Given the description of an element on the screen output the (x, y) to click on. 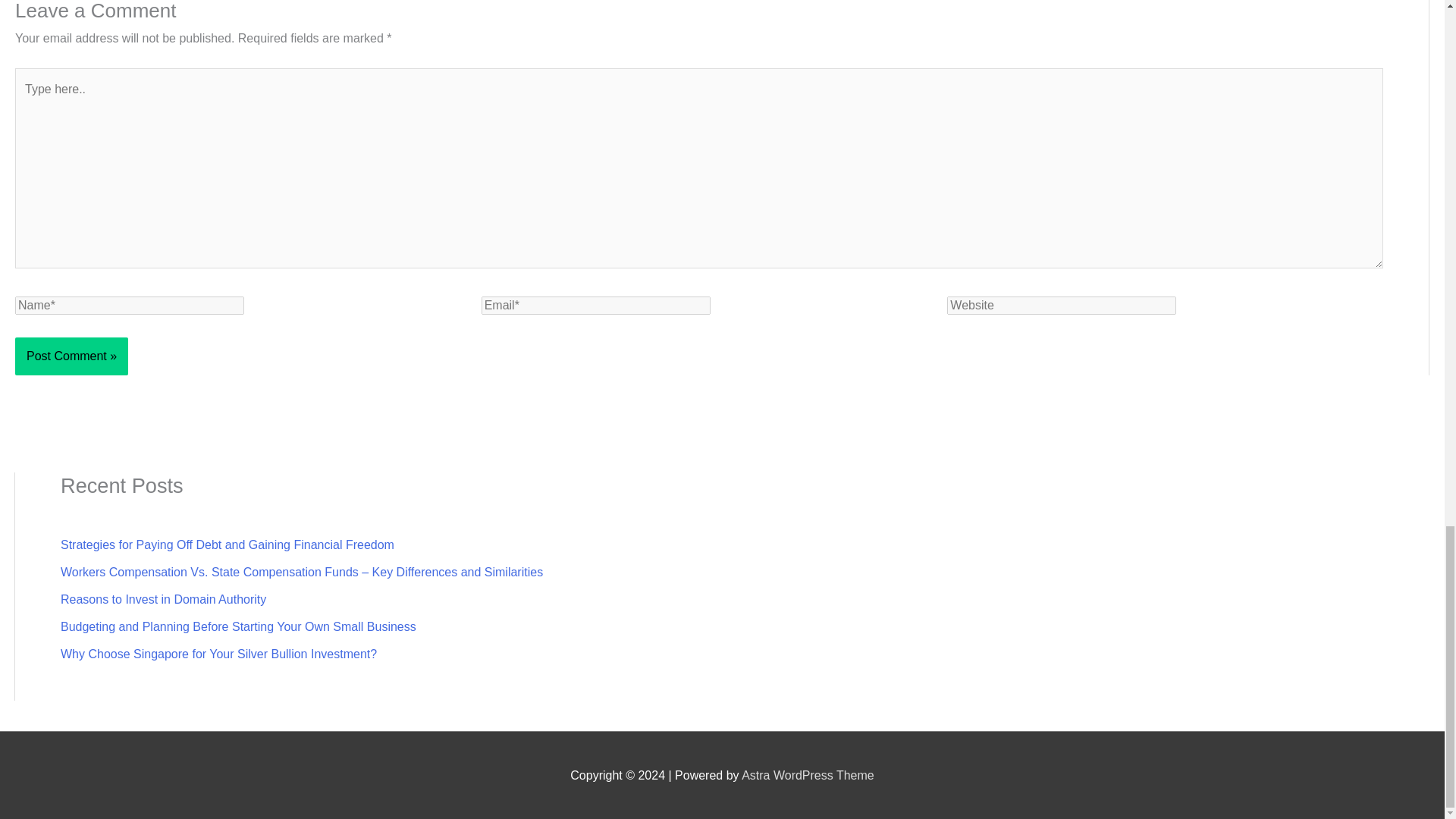
Astra WordPress Theme (808, 775)
Why Choose Singapore for Your Silver Bullion Investment? (219, 653)
Strategies for Paying Off Debt and Gaining Financial Freedom (227, 544)
Reasons to Invest in Domain Authority (163, 599)
